Given the description of an element on the screen output the (x, y) to click on. 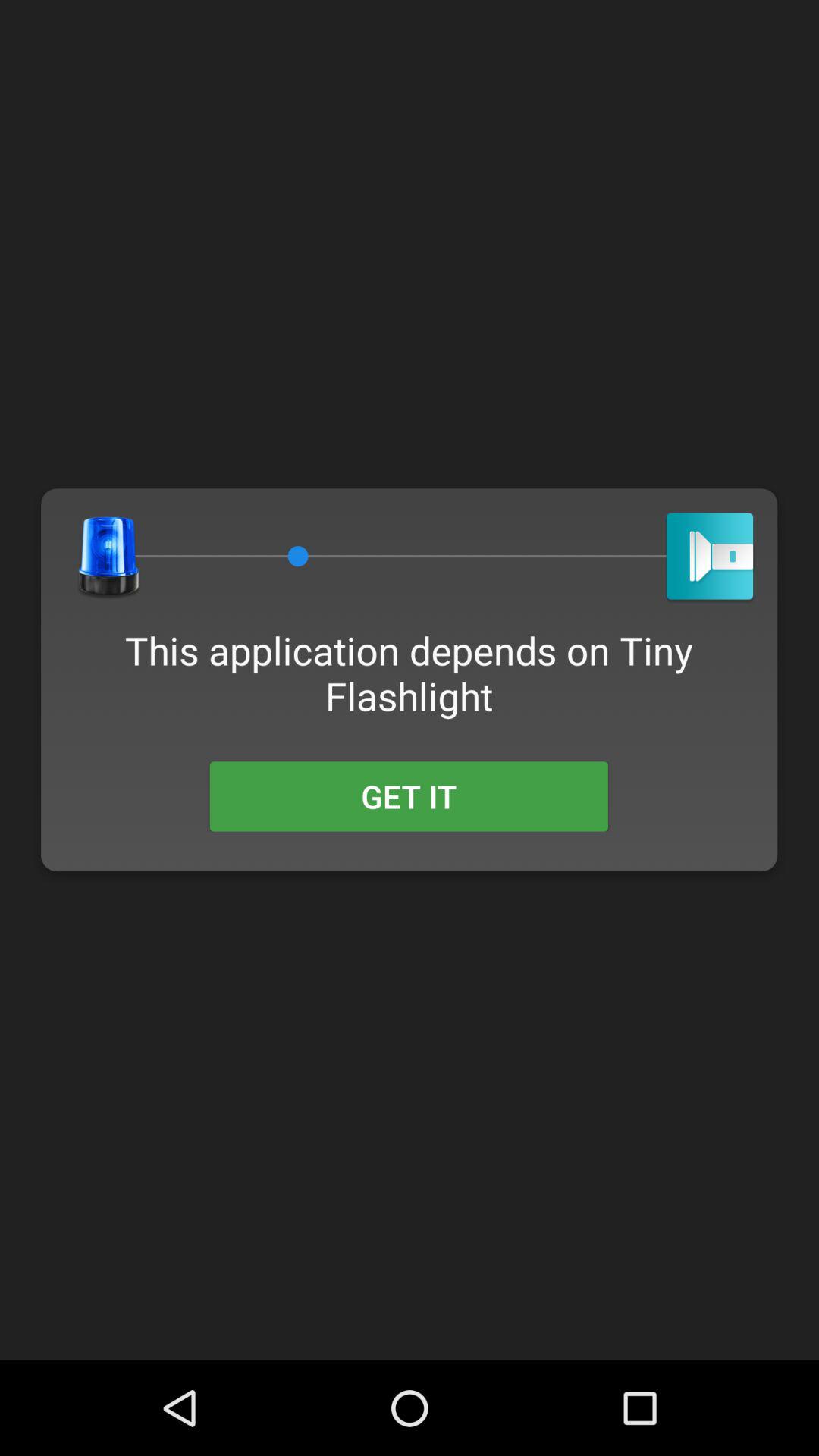
launch the     get it (408, 796)
